Given the description of an element on the screen output the (x, y) to click on. 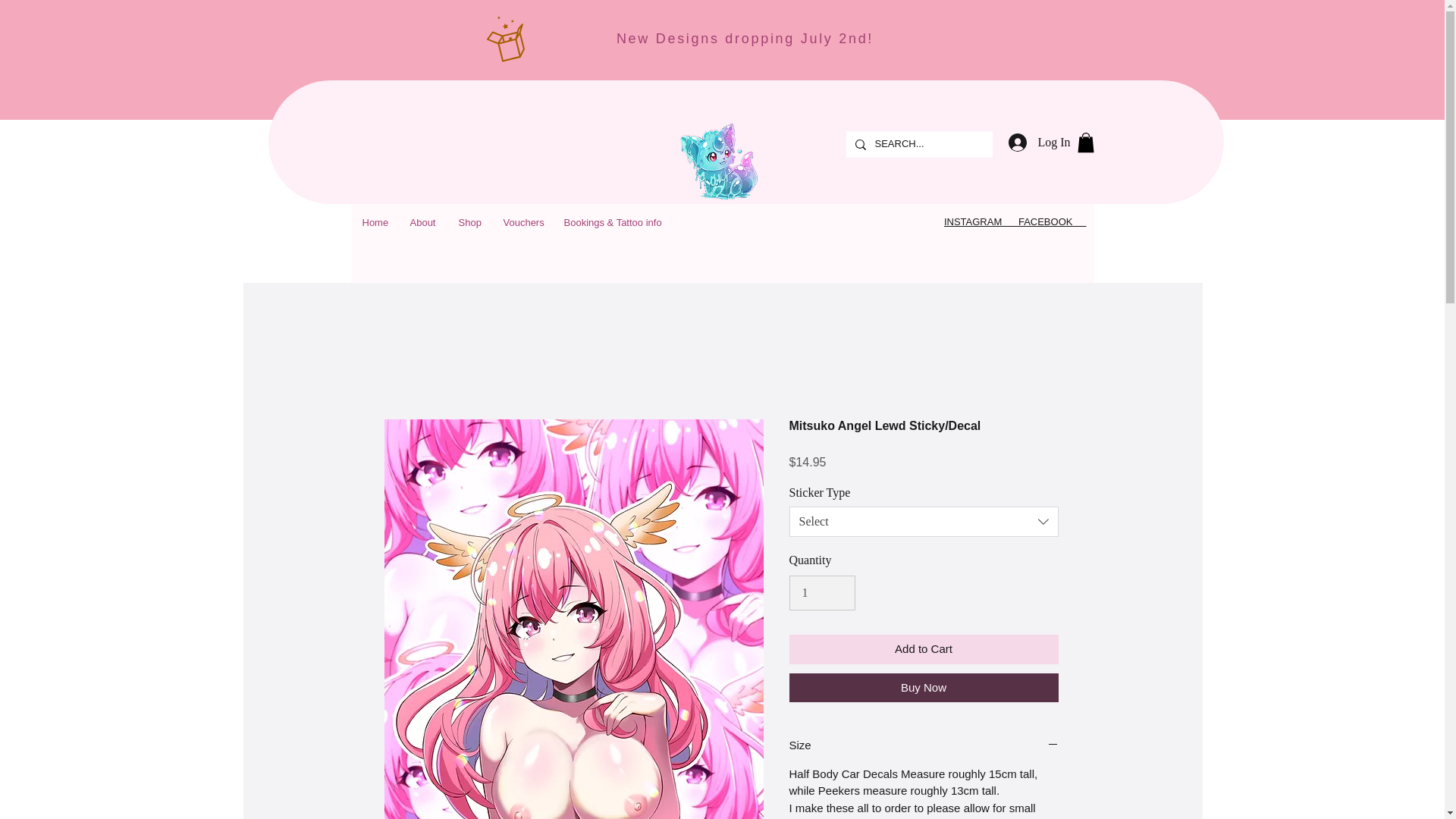
Add to Cart (923, 649)
Buy Now (923, 687)
Select (923, 521)
Home (373, 222)
Shop (469, 222)
Log In (1038, 142)
Size (923, 745)
1 (821, 592)
INSTAGRAM      FACEBOOK      (1014, 221)
